Given the description of an element on the screen output the (x, y) to click on. 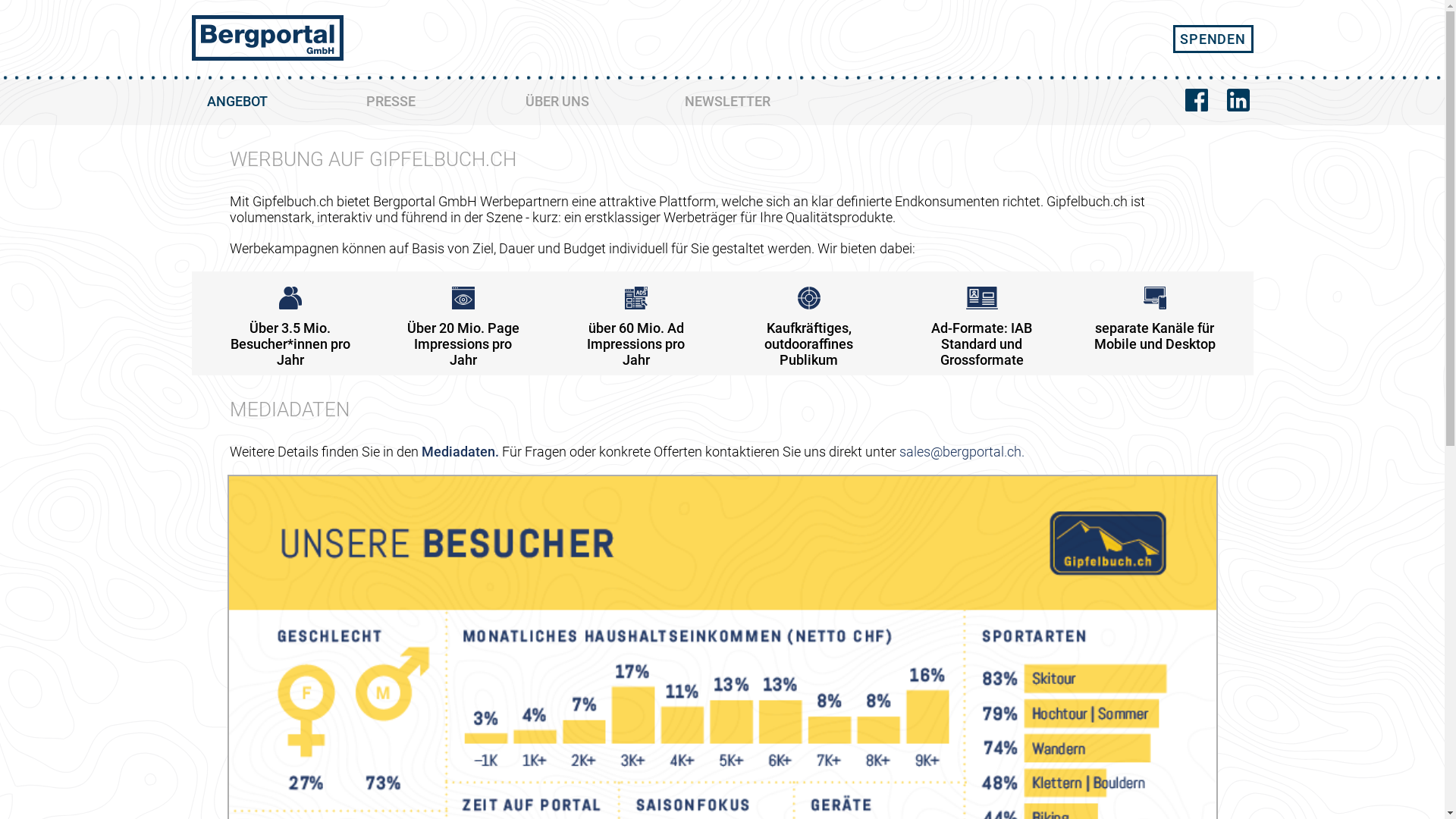
PRESSE Element type: text (429, 102)
sales@bergportal.ch. Element type: text (961, 451)
NEWSLETTER Element type: text (748, 102)
ANGEBOT Element type: text (270, 102)
SPENDEN Element type: text (1212, 39)
Mediadaten. Element type: text (459, 451)
